Given the description of an element on the screen output the (x, y) to click on. 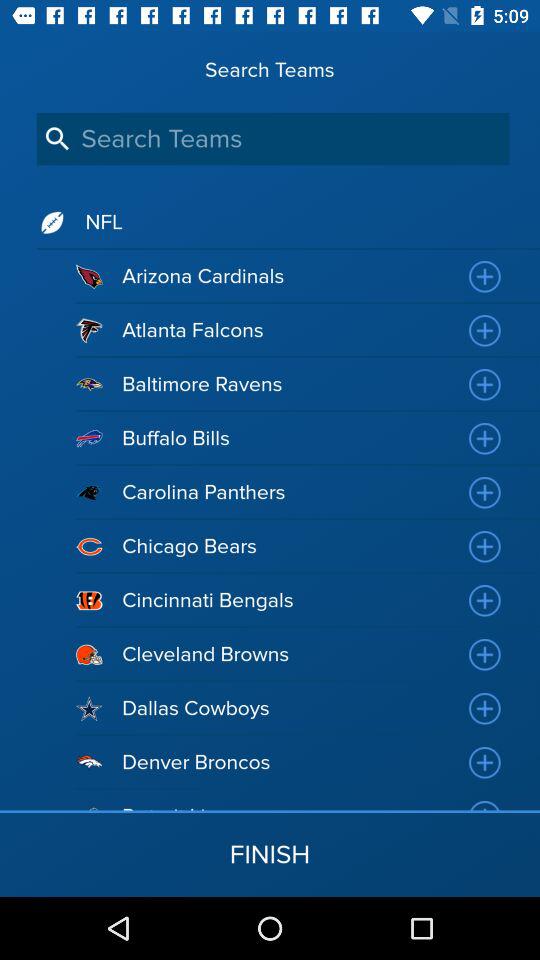
search box (272, 138)
